Given the description of an element on the screen output the (x, y) to click on. 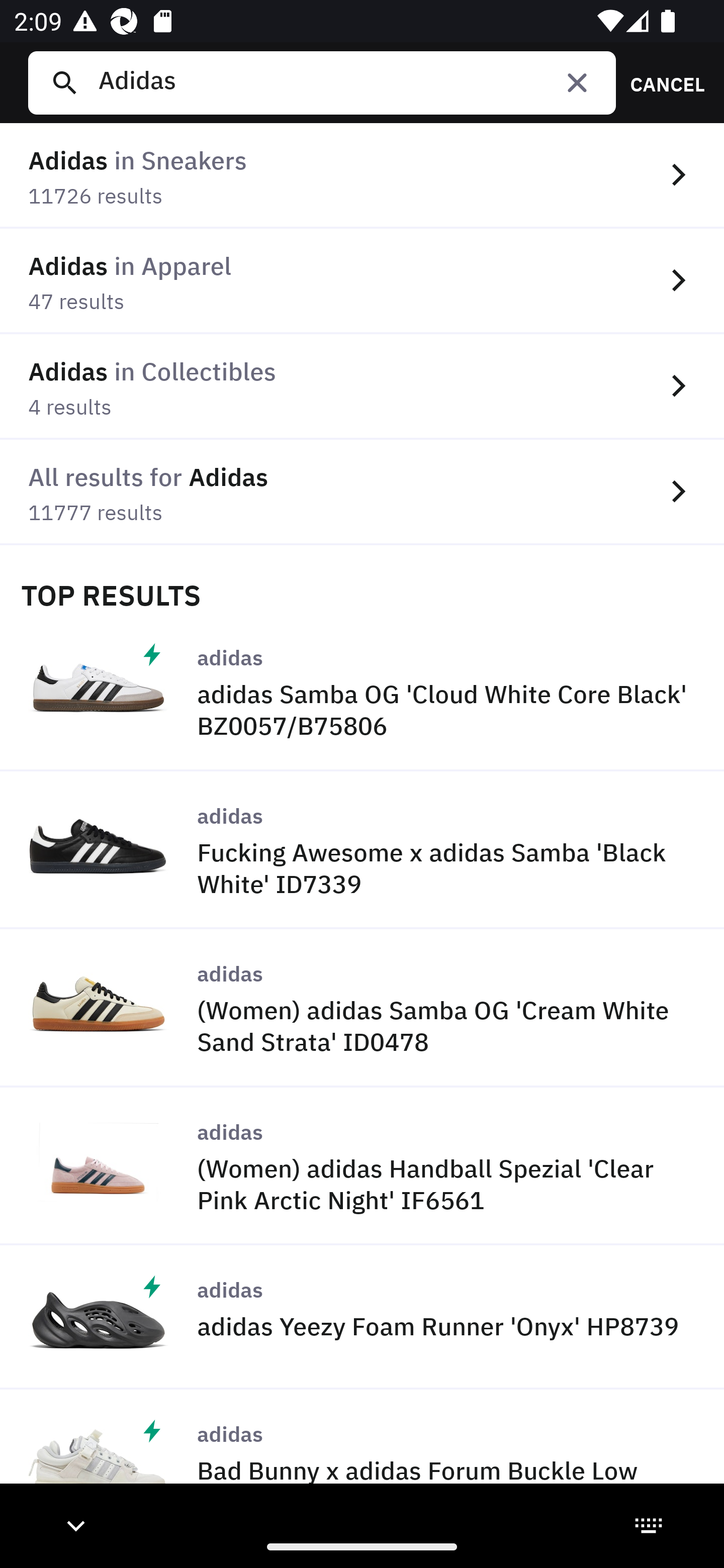
CANCEL (660, 82)
Adidas (349, 82)
 (577, 82)
Adidas  in Sneakers 11726 results  (362, 175)
Adidas  in Apparel 47 results  (362, 280)
Adidas  in Collectibles 4 results  (362, 386)
All results for  Adidas 11777 results  (362, 492)
 adidas adidas Yeezy Foam Runner 'Onyx' HP8739 (362, 1316)
